Given the description of an element on the screen output the (x, y) to click on. 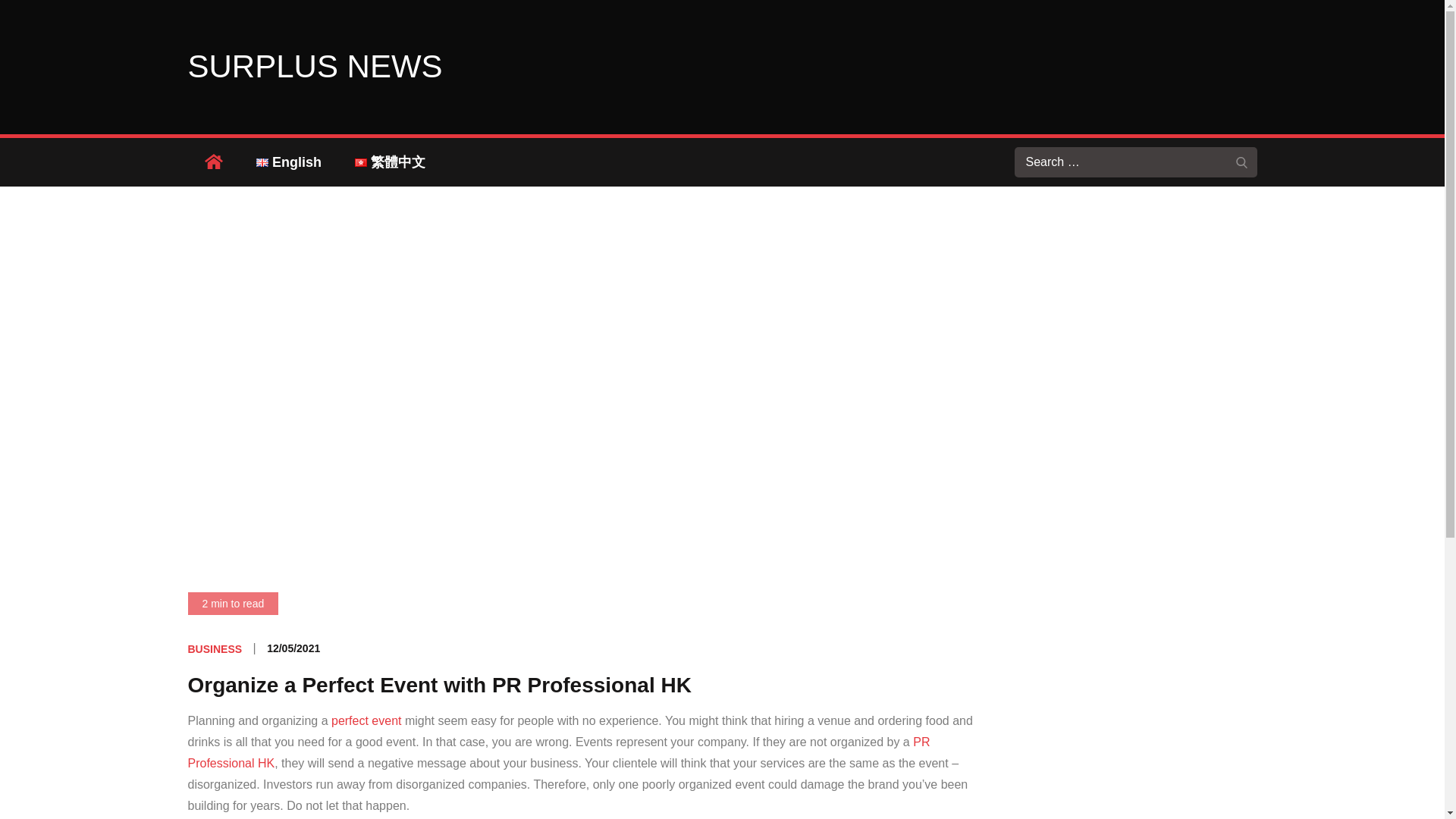
perfect event (366, 720)
BUSINESS (215, 648)
English (288, 162)
PR Professional HK (558, 752)
Search (1242, 162)
SURPLUS NEWS (314, 66)
